Given the description of an element on the screen output the (x, y) to click on. 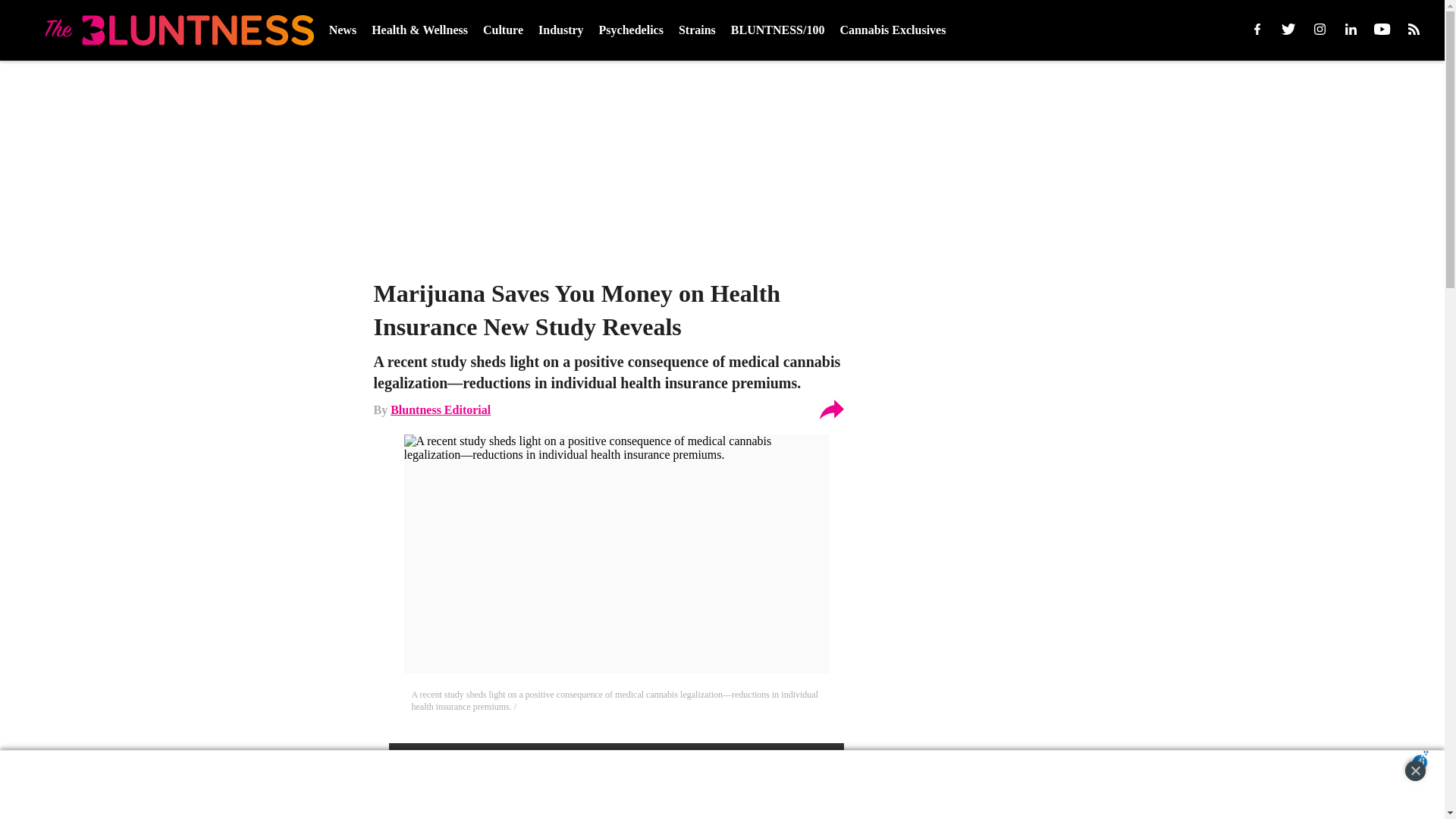
Strains (697, 30)
Culture (502, 30)
News (342, 30)
Cannabis Exclusives (892, 30)
Industry (560, 30)
3rd party ad content (706, 785)
Psychedelics (630, 30)
Bluntness Editorial (440, 409)
